Given the description of an element on the screen output the (x, y) to click on. 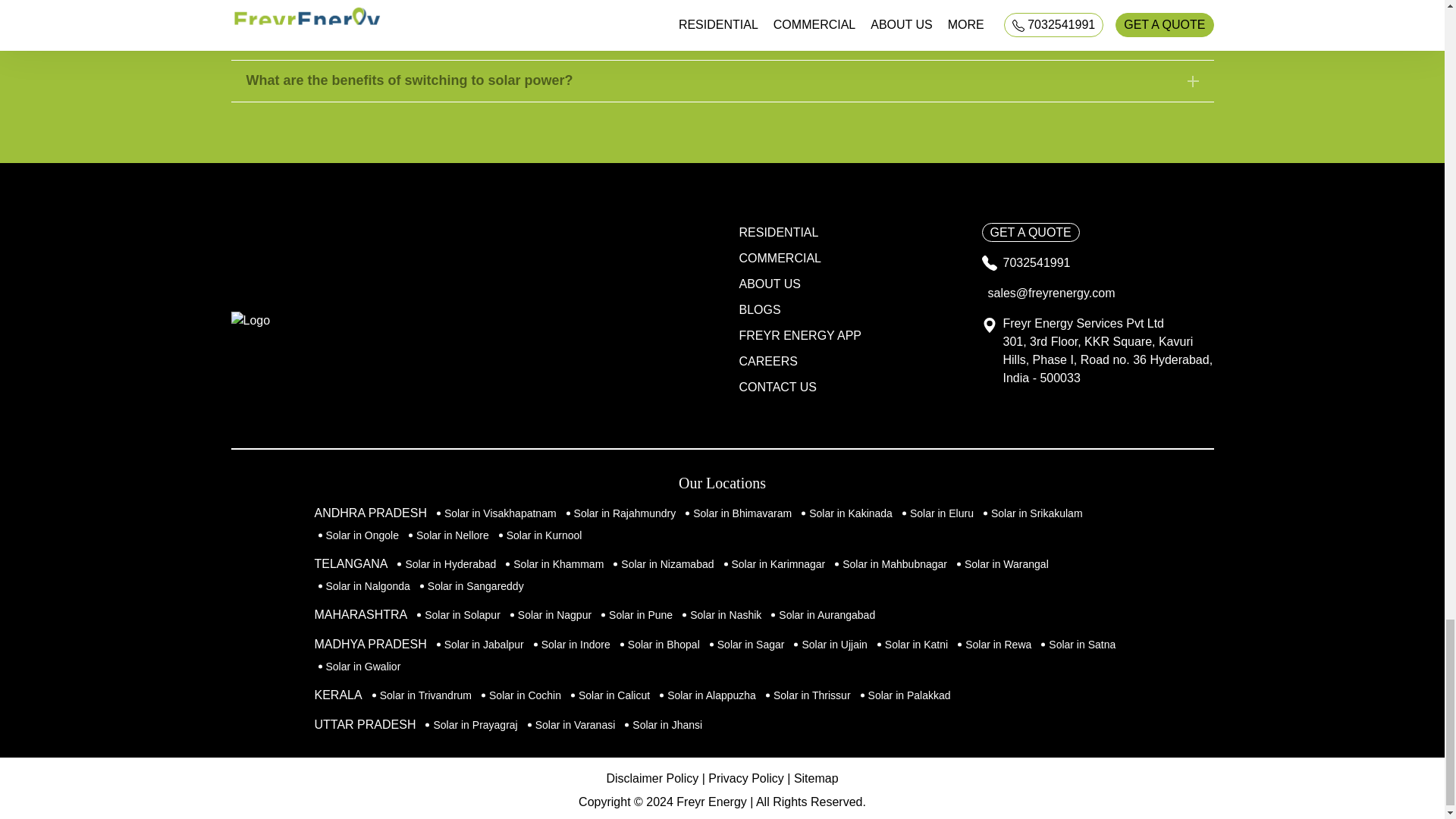
CONTACT US (777, 386)
What are the benefits of switching to solar power? (721, 80)
How much maintenance do solar panels require? (721, 39)
BLOGS (758, 309)
ABOUT US (769, 283)
FREYR ENERGY APP (799, 334)
CAREERS (767, 361)
COMMERCIAL (779, 257)
RESIDENTIAL (777, 231)
